Given the description of an element on the screen output the (x, y) to click on. 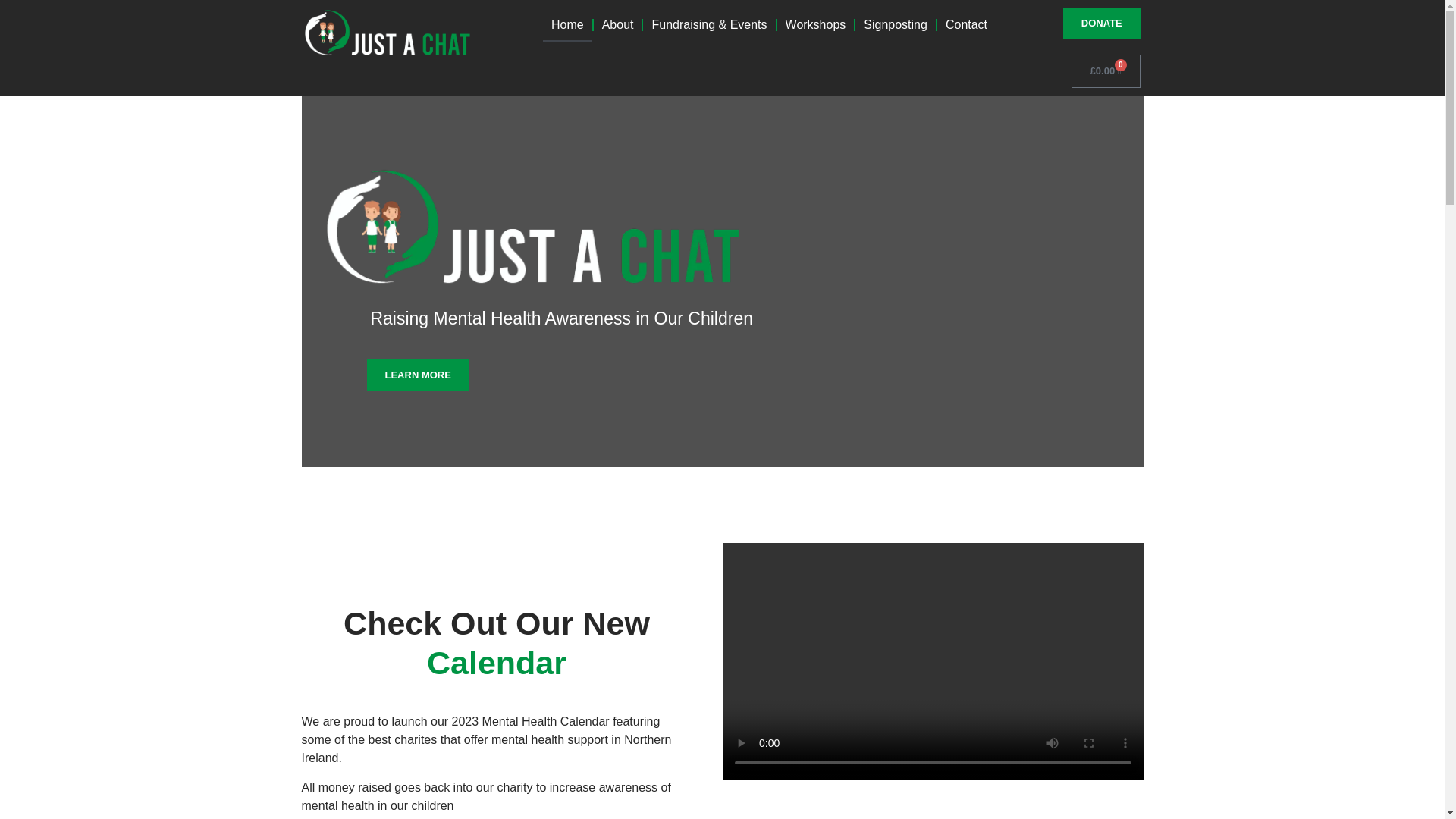
About (618, 24)
LEARN MORE (417, 375)
Workshops (815, 24)
DONATE (1101, 23)
Home (567, 24)
Contact (966, 24)
Signposting (896, 24)
